Given the description of an element on the screen output the (x, y) to click on. 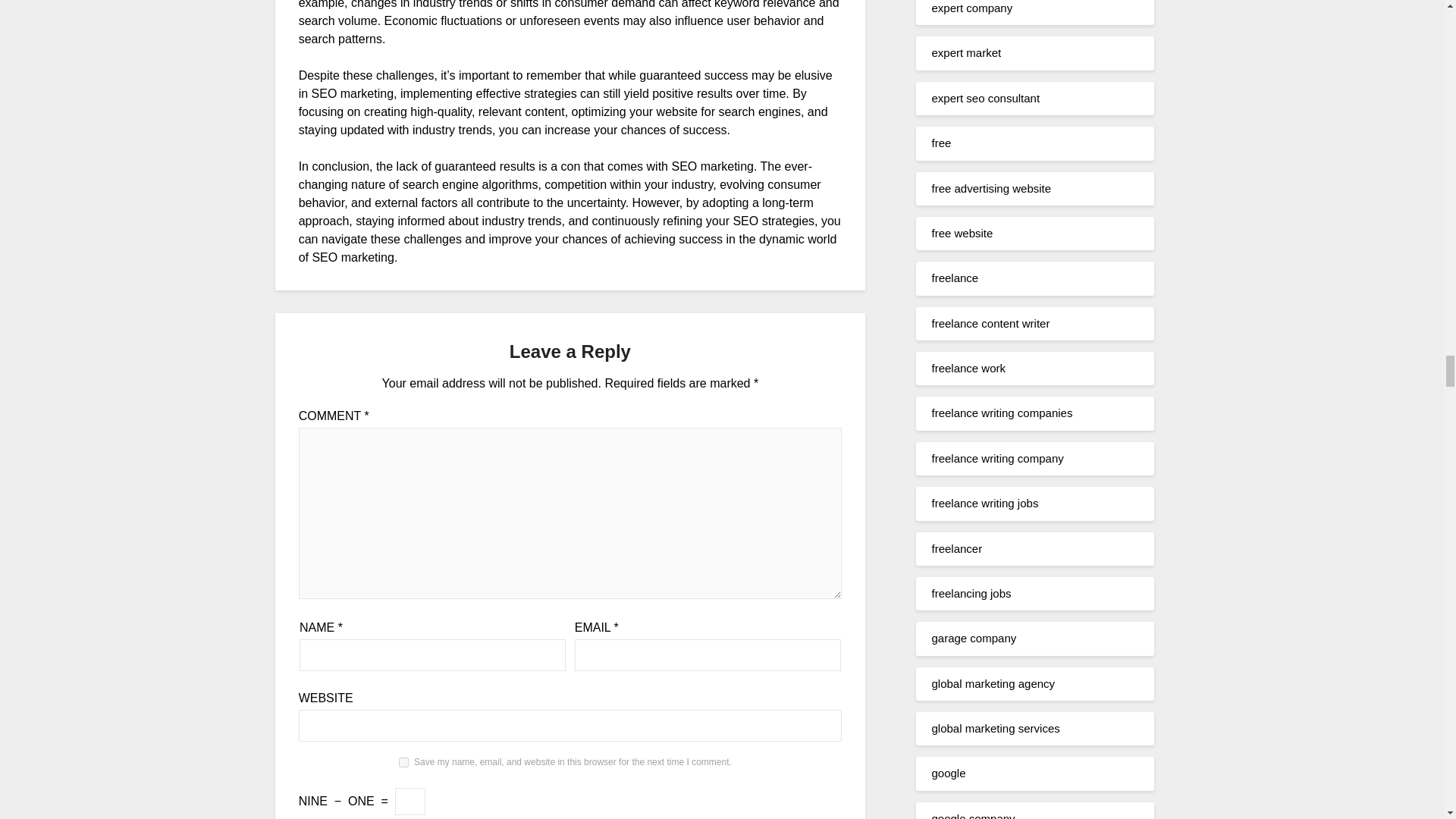
yes (403, 762)
